Given the description of an element on the screen output the (x, y) to click on. 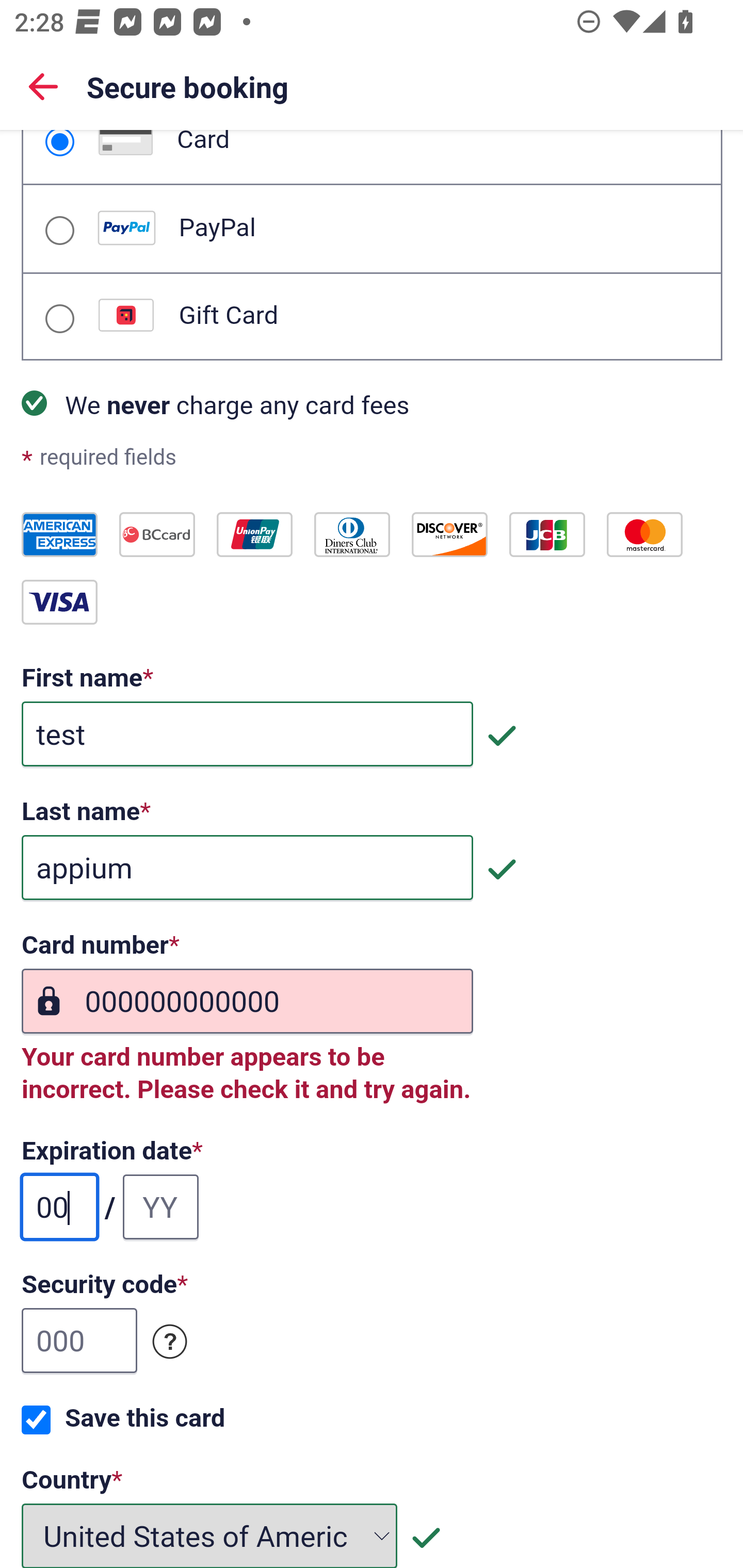
Back (43, 86)
Card (59, 143)
PayPal (59, 230)
Gift Card (59, 318)
test (247, 734)
appium (247, 868)
000000000000 (247, 1001)
00 (59, 1206)
Security code (170, 1342)
Save this card (36, 1420)
United States of America (209, 1535)
